Given the description of an element on the screen output the (x, y) to click on. 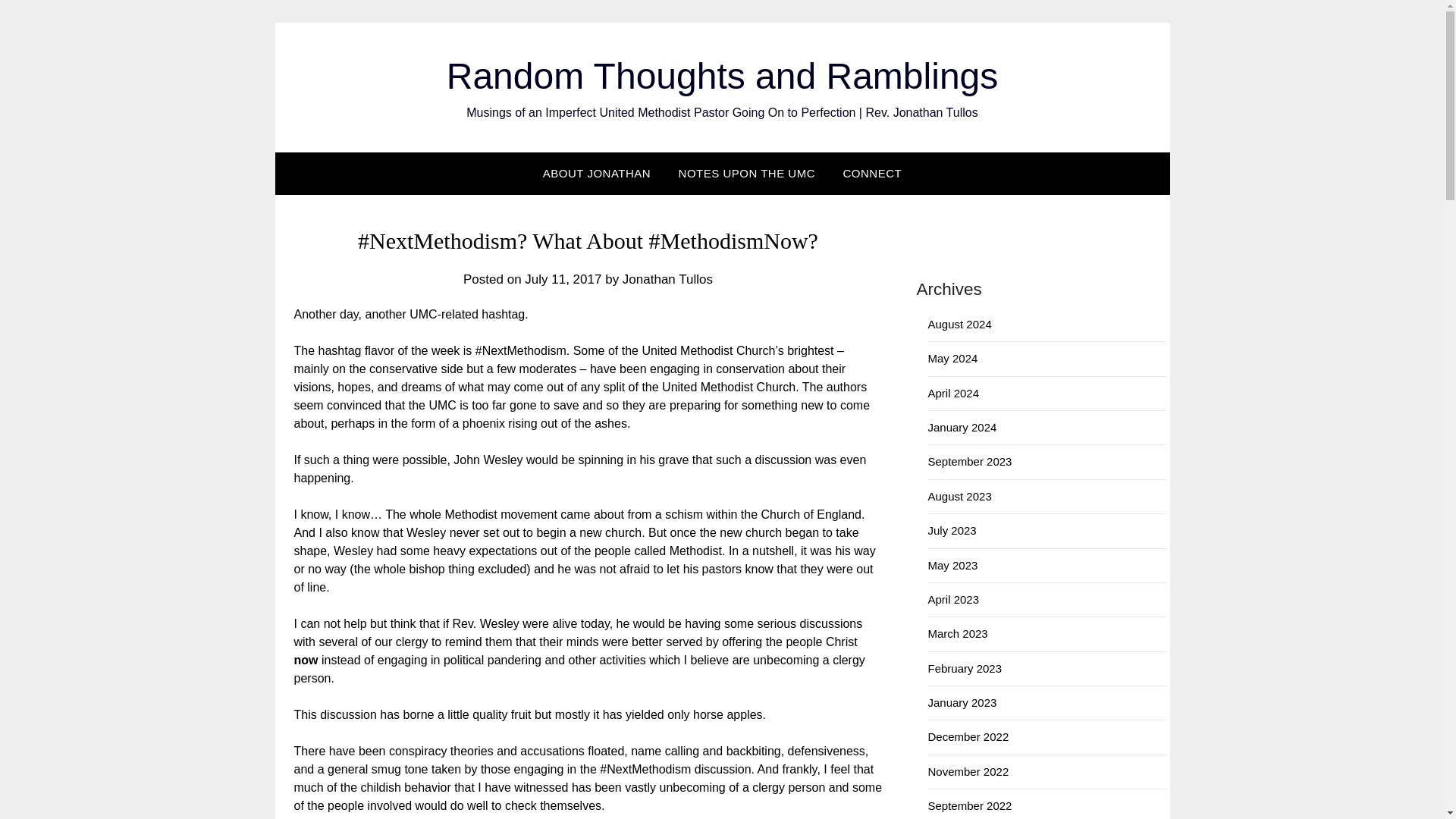
April 2024 (953, 392)
July 2023 (952, 530)
January 2024 (962, 427)
March 2023 (958, 633)
August 2023 (959, 495)
January 2023 (962, 702)
November 2022 (968, 771)
May 2023 (953, 564)
CONNECT (871, 173)
September 2023 (969, 461)
